Given the description of an element on the screen output the (x, y) to click on. 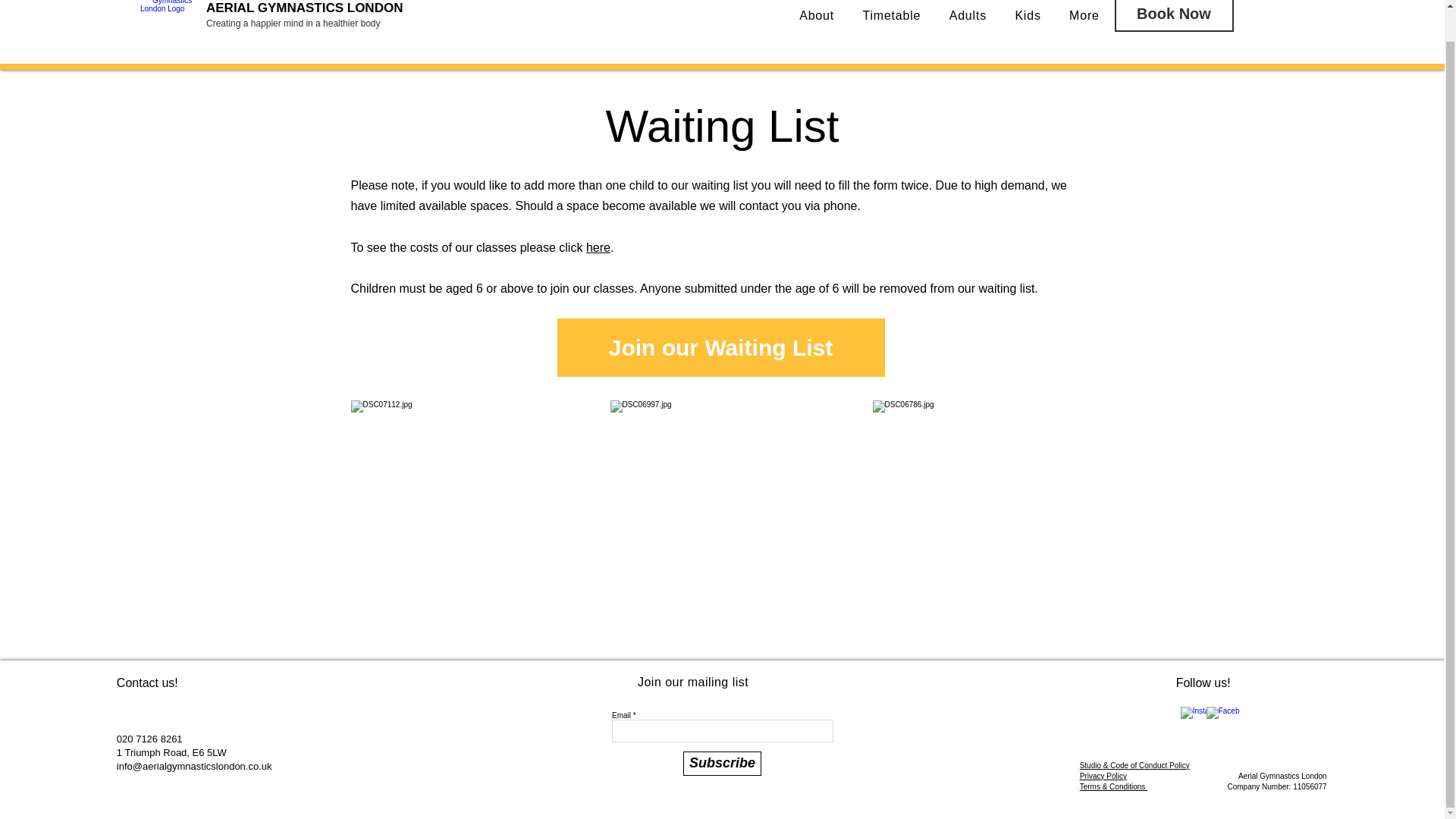
Join our Waiting List (719, 347)
Book Now (1174, 15)
Timetable (891, 16)
About (817, 16)
here (598, 246)
